Given the description of an element on the screen output the (x, y) to click on. 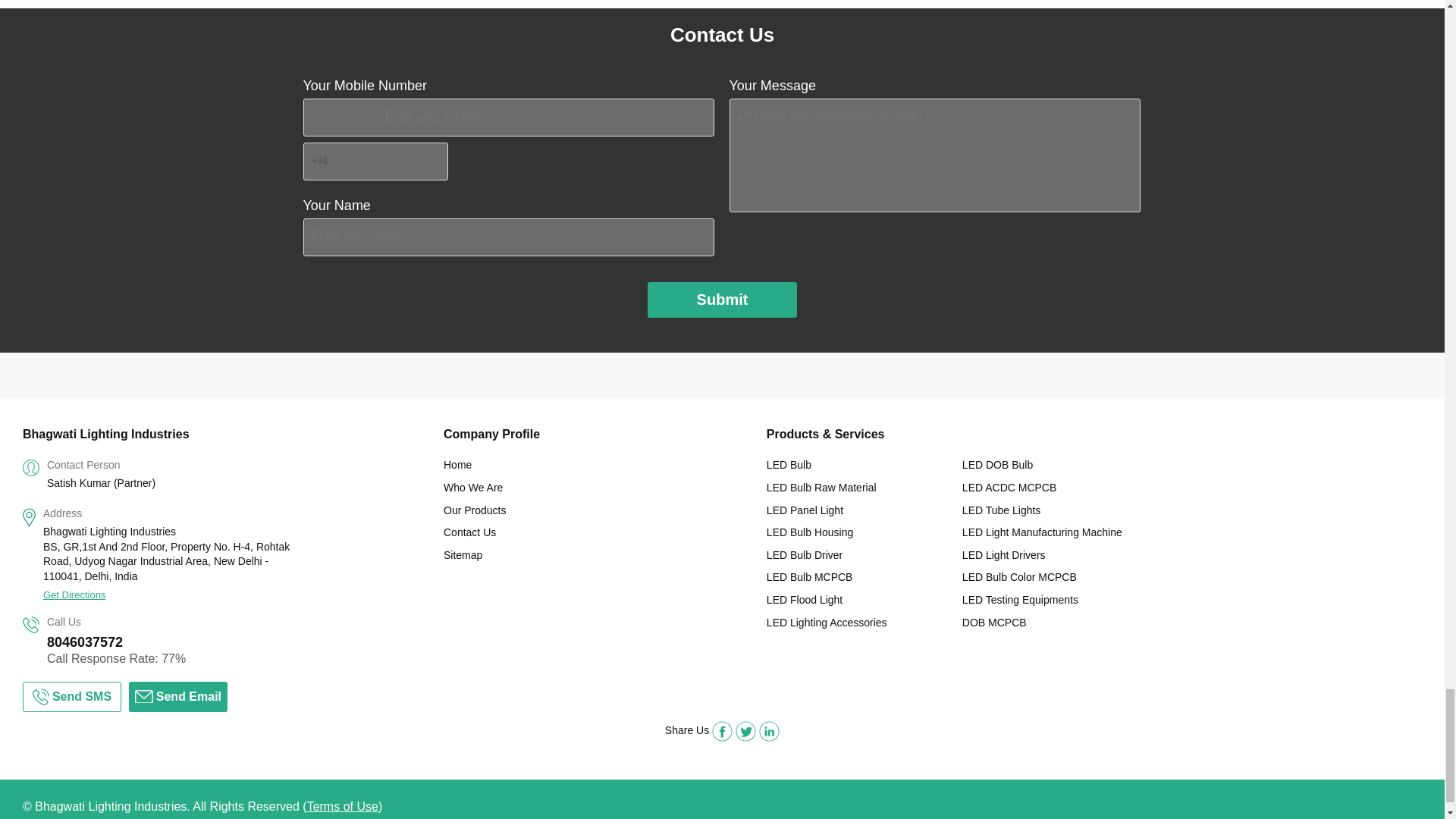
Submit (722, 299)
